Given the description of an element on the screen output the (x, y) to click on. 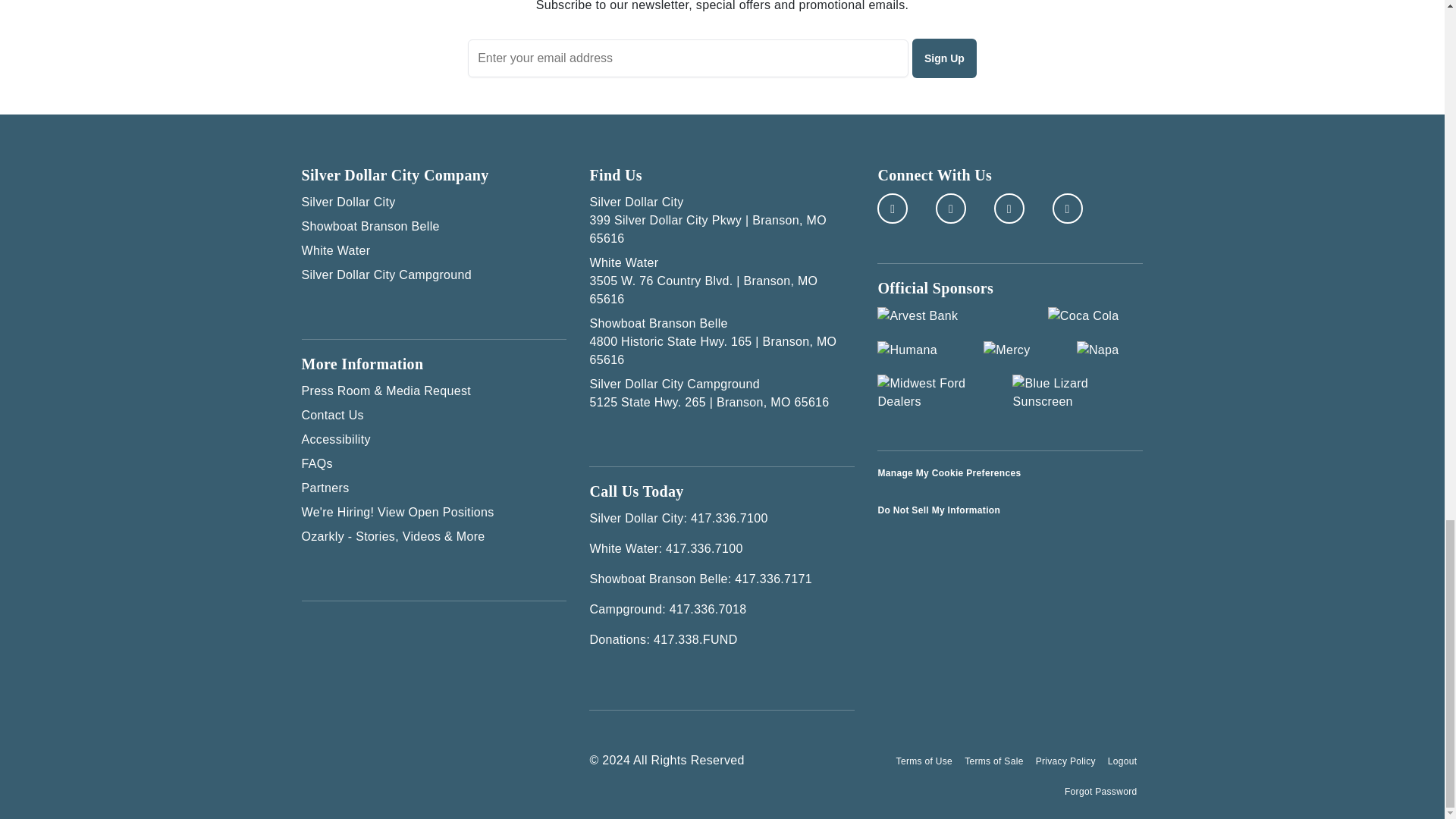
Press (434, 391)
Sign Up  (944, 57)
